Given the description of an element on the screen output the (x, y) to click on. 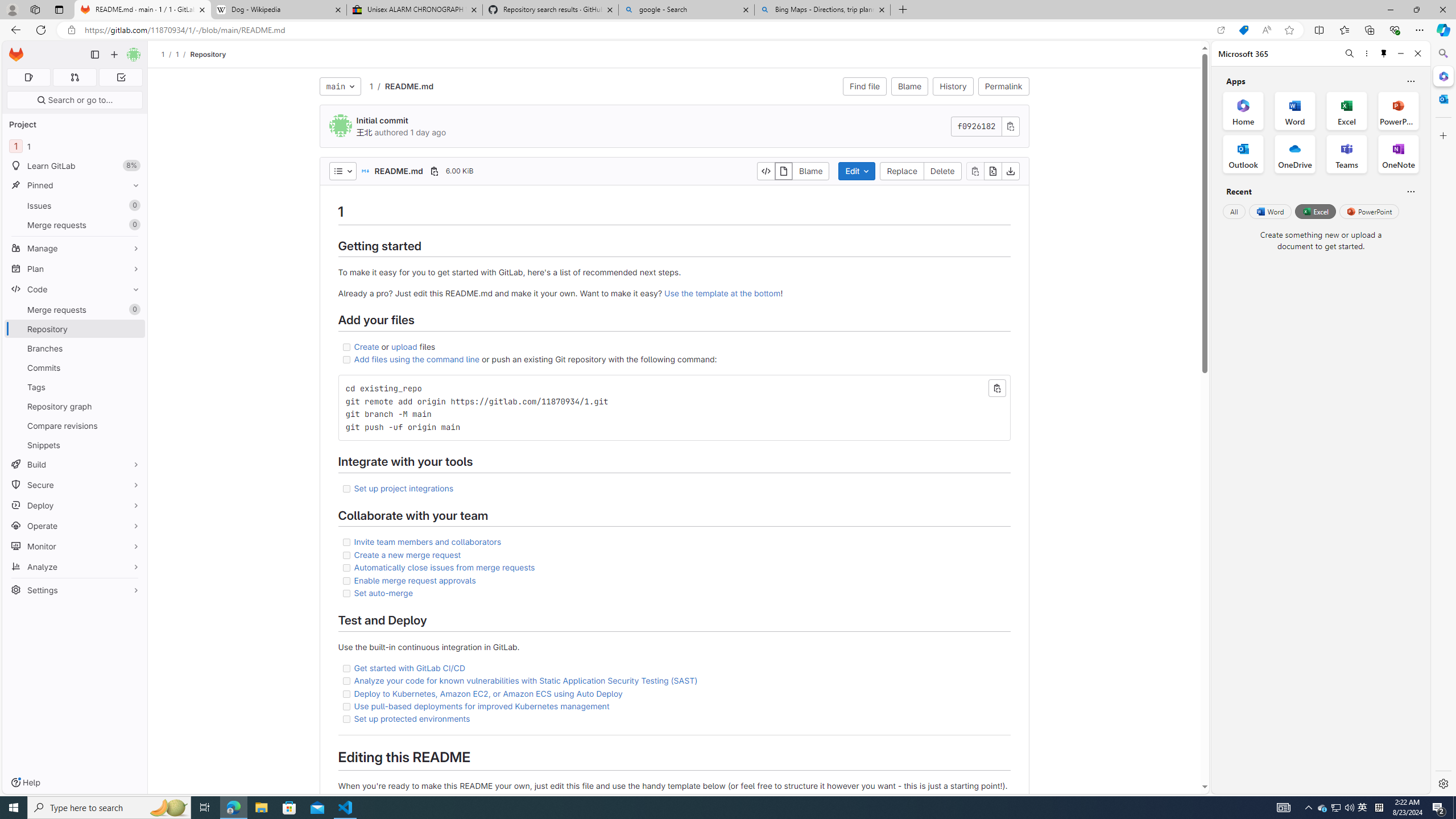
Word (1269, 210)
Commits (74, 367)
History (953, 85)
Set up protected environments (673, 718)
Commits (74, 367)
Issues0 (74, 205)
Secure (74, 484)
1 1 (74, 145)
Tags (74, 386)
Excel Office App (1346, 110)
